Given the description of an element on the screen output the (x, y) to click on. 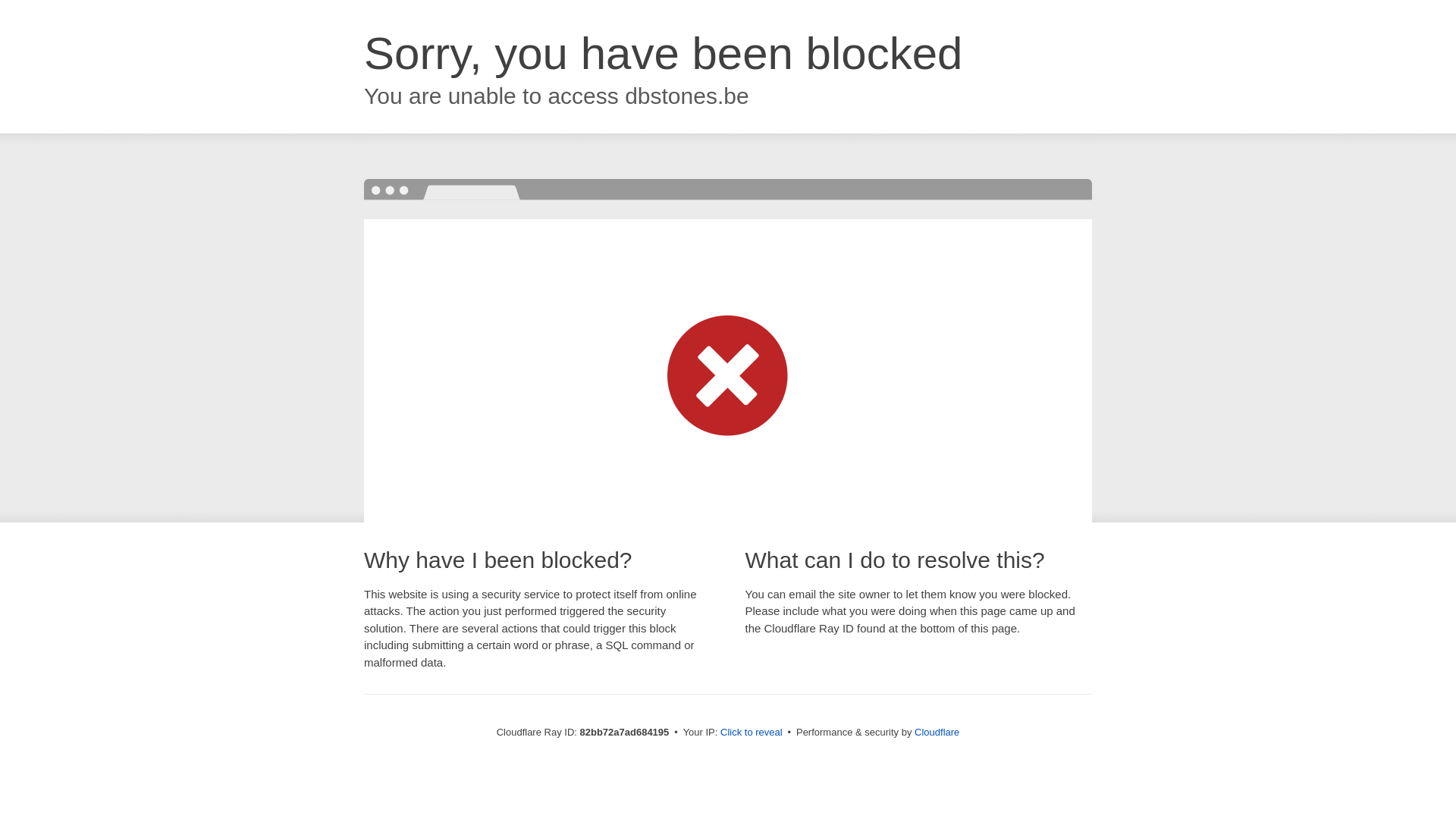
Click to reveal Element type: text (751, 732)
Cloudflare Element type: text (936, 731)
